Given the description of an element on the screen output the (x, y) to click on. 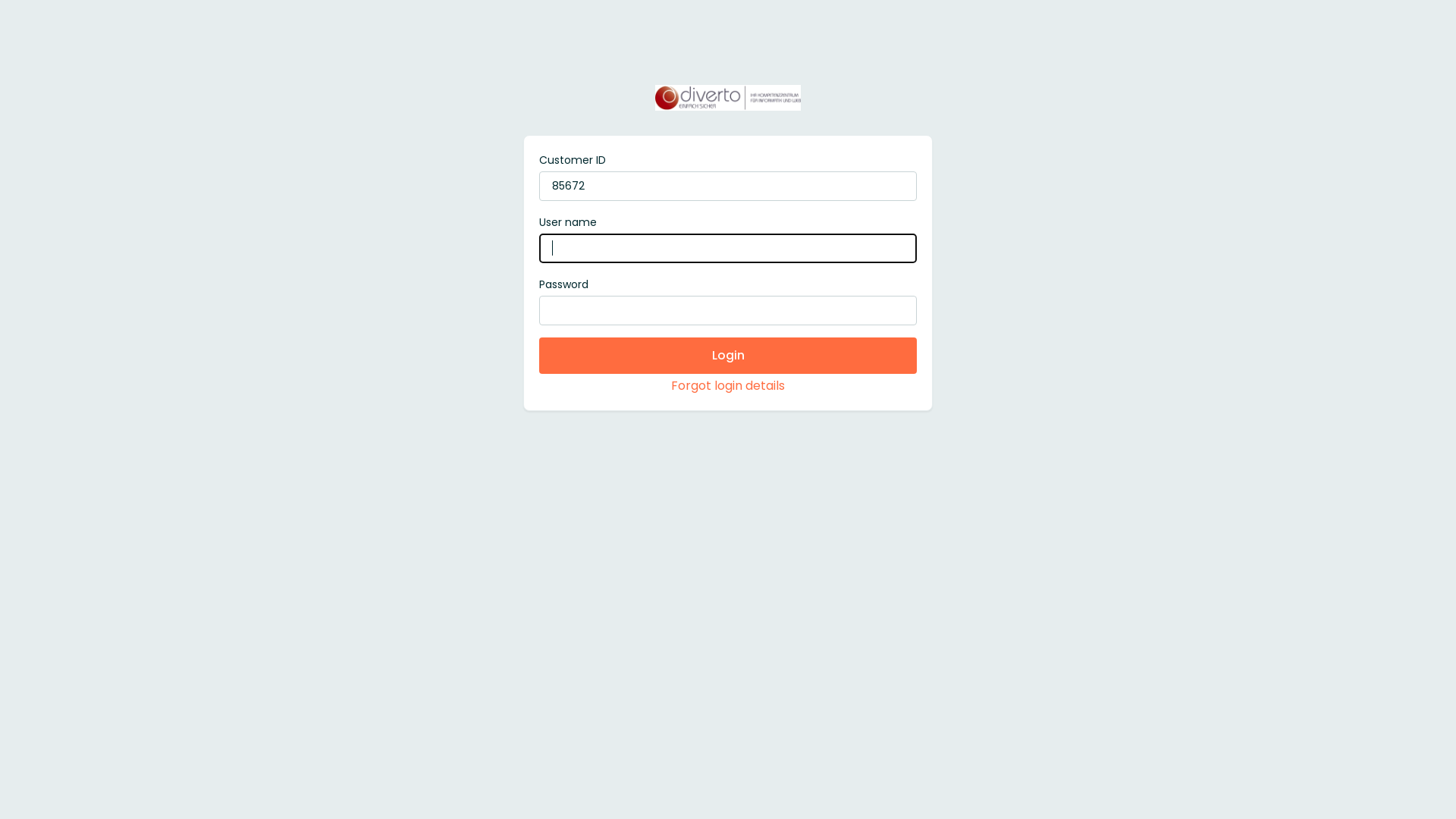
Login Element type: text (727, 355)
Forgot login details Element type: text (727, 385)
